Given the description of an element on the screen output the (x, y) to click on. 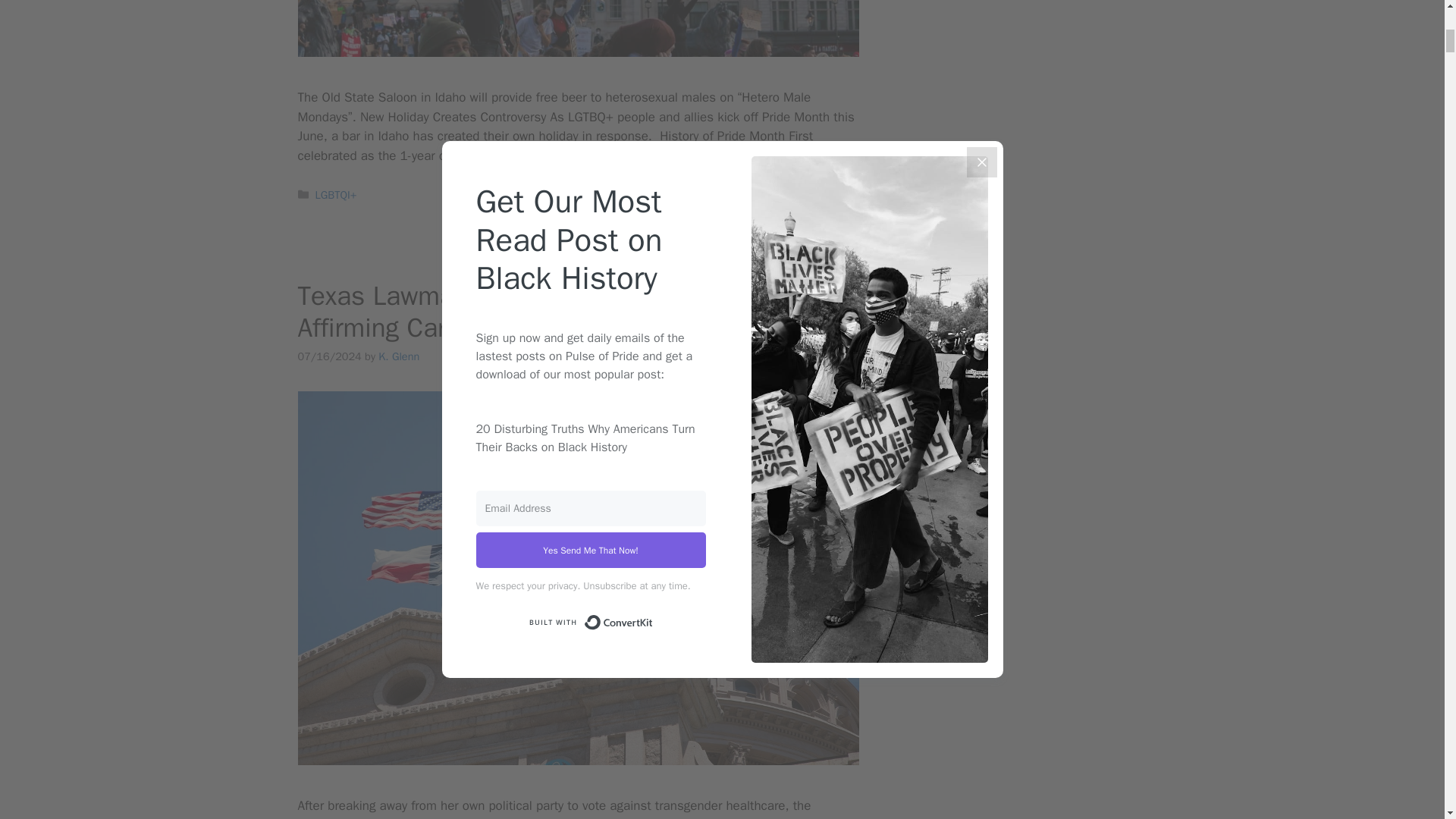
View all posts by K. Glenn (398, 356)
K. Glenn (398, 356)
Read more (616, 155)
